Given the description of an element on the screen output the (x, y) to click on. 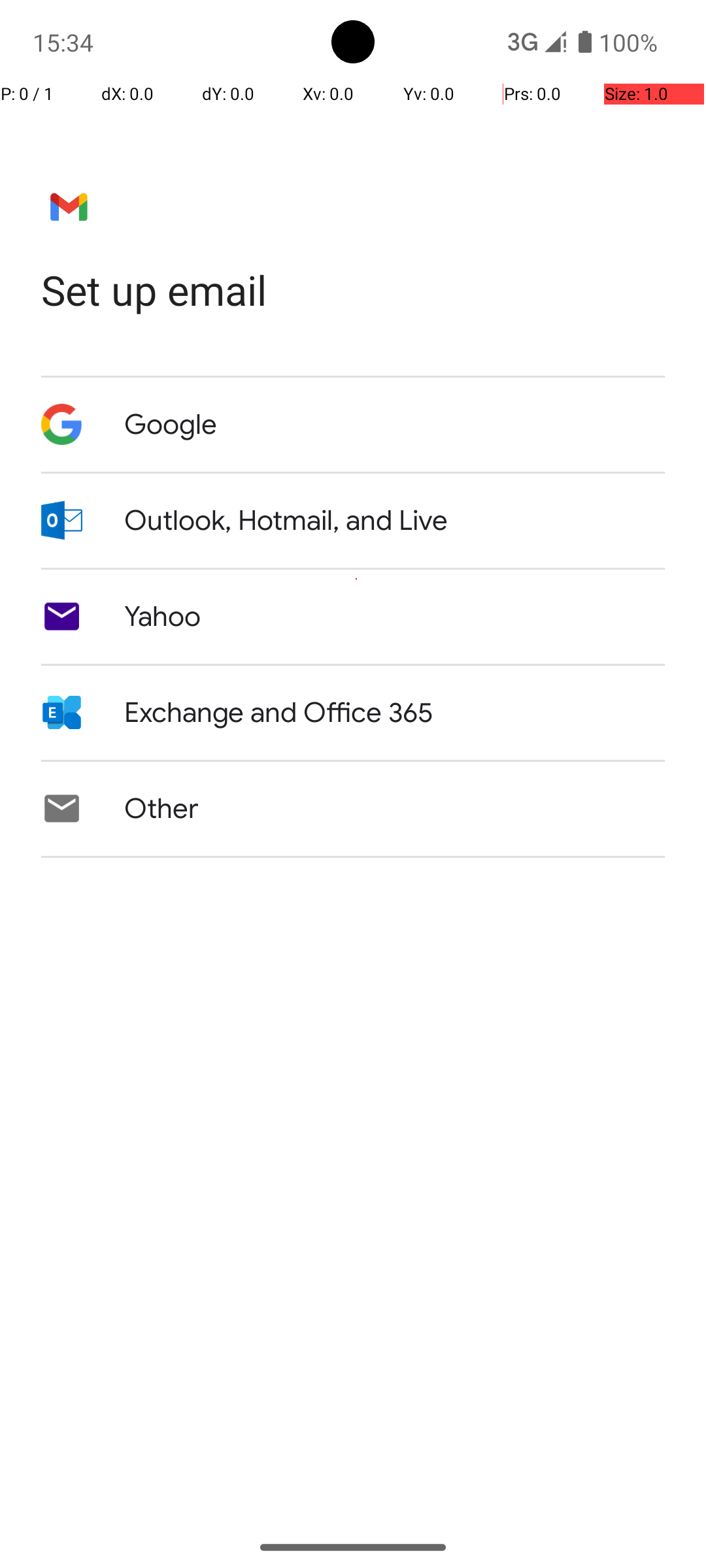
Set up email Element type: android.widget.TextView (352, 289)
Google Element type: android.widget.TextView (170, 424)
Outlook, Hotmail, and Live Element type: android.widget.TextView (286, 520)
Yahoo Element type: android.widget.TextView (162, 616)
Exchange and Office 365 Element type: android.widget.TextView (278, 712)
Other Element type: android.widget.TextView (161, 808)
